Given the description of an element on the screen output the (x, y) to click on. 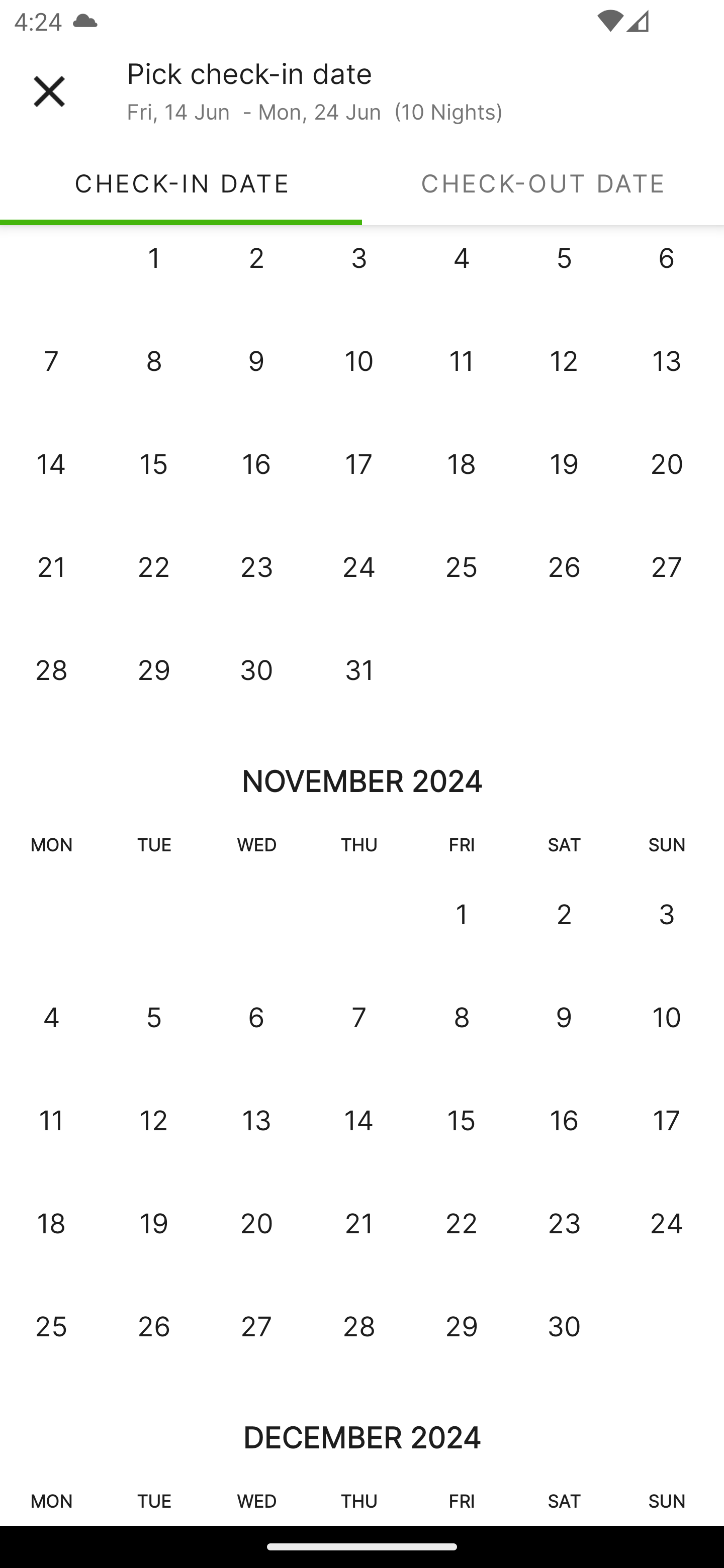
Check-out Date CHECK-OUT DATE (543, 183)
